Given the description of an element on the screen output the (x, y) to click on. 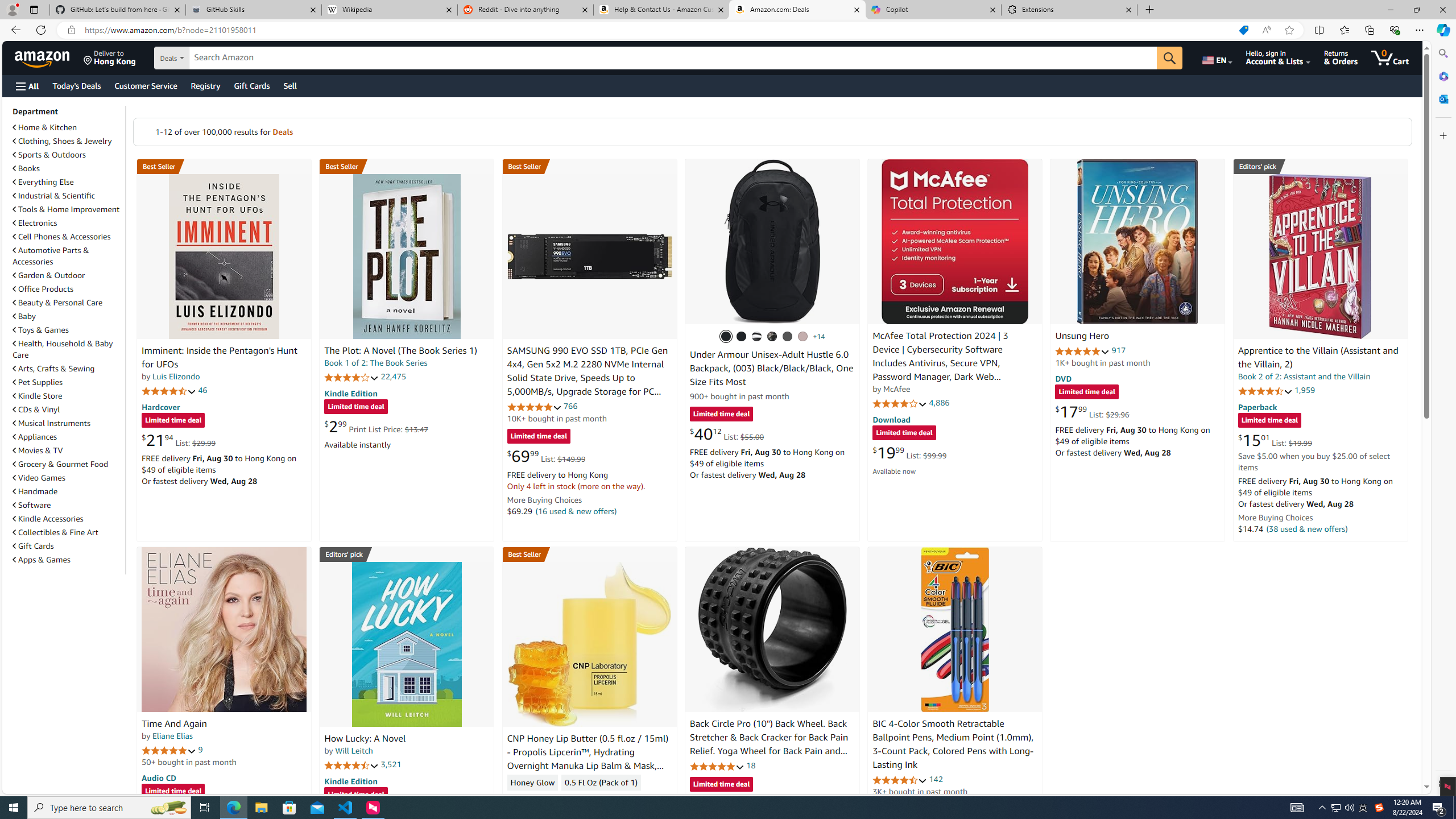
(002) Black / Black / White (756, 336)
Luis Elizondo (175, 376)
Customize (1442, 135)
$69.99 List: $149.99 (545, 455)
Book 2 of 2: Assistant and the Villain (1303, 376)
3,521 (390, 764)
Editors' pick Best Science Fiction & Fantasy (1320, 165)
Clothing, Shoes & Jewelry (62, 140)
Industrial & Scientific (54, 195)
Sports & Outdoors (67, 154)
9 (200, 749)
Video Games (67, 477)
Baby (67, 315)
